Given the description of an element on the screen output the (x, y) to click on. 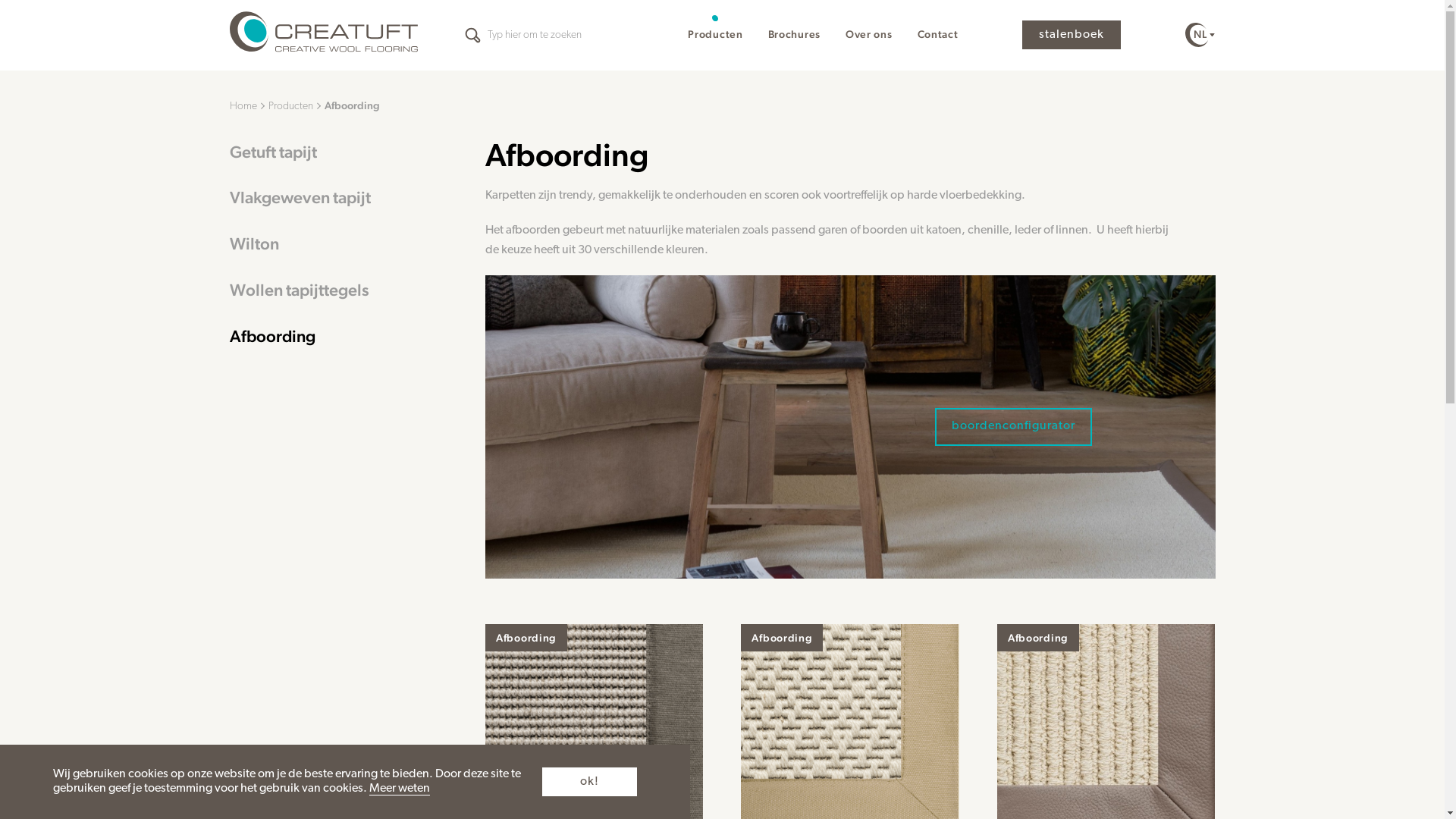
Afboording Element type: text (338, 336)
Vlakgeweven tapijt Element type: text (338, 197)
Contact Element type: text (937, 34)
Wollen tapijttegels Element type: text (338, 290)
Brochures Element type: text (794, 34)
Over ons Element type: text (868, 34)
Overslaan en naar de inhoud gaan Element type: text (0, 0)
Getuft tapijt Element type: text (338, 151)
Apply Element type: text (472, 34)
Meer weten Element type: text (399, 788)
Producten Element type: text (714, 34)
stalenboek Element type: text (1071, 34)
Producten Element type: text (295, 106)
Home Element type: text (247, 106)
ok! Element type: text (589, 781)
NL Element type: text (1199, 34)
Wilton Element type: text (338, 243)
Apply Element type: text (42, 457)
boordenconfigurator Element type: text (1013, 426)
